Given the description of an element on the screen output the (x, y) to click on. 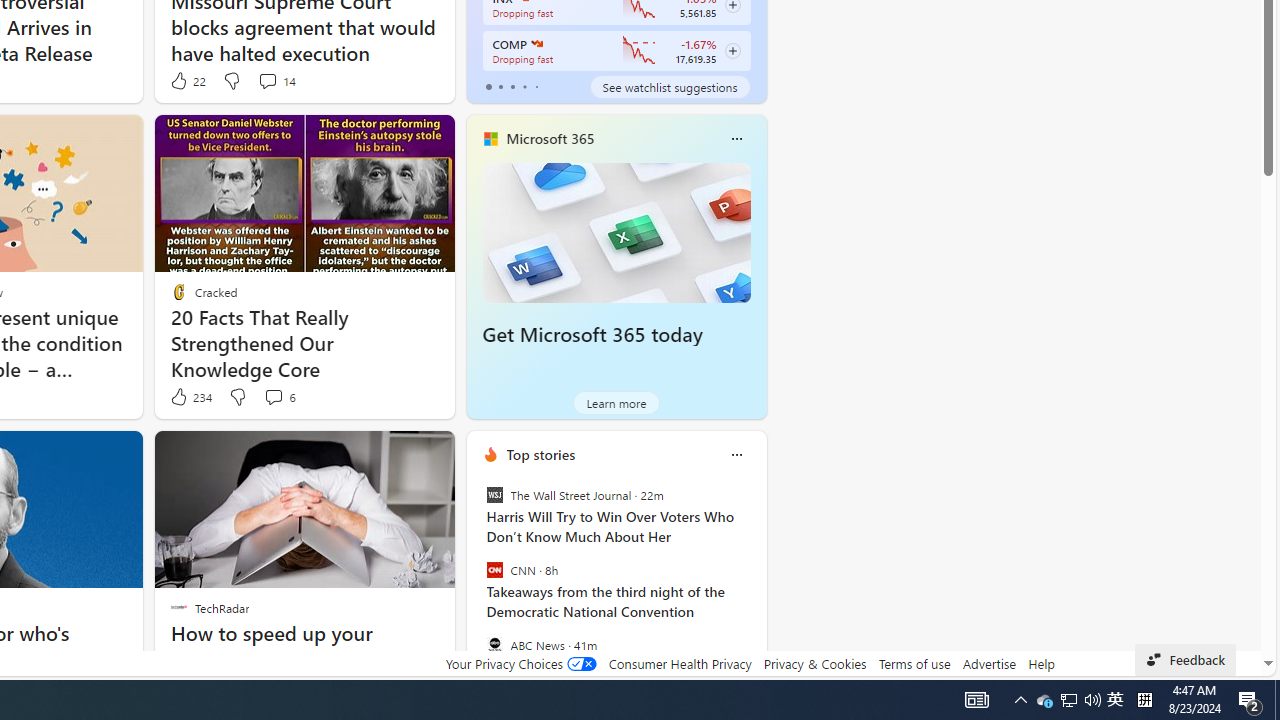
Class: follow-button  m (732, 51)
View comments 6 Comment (279, 397)
Get Microsoft 365 today (592, 335)
tab-1 (500, 86)
See watchlist suggestions (669, 86)
tab-2 (511, 86)
Learn more (616, 402)
